Given the description of an element on the screen output the (x, y) to click on. 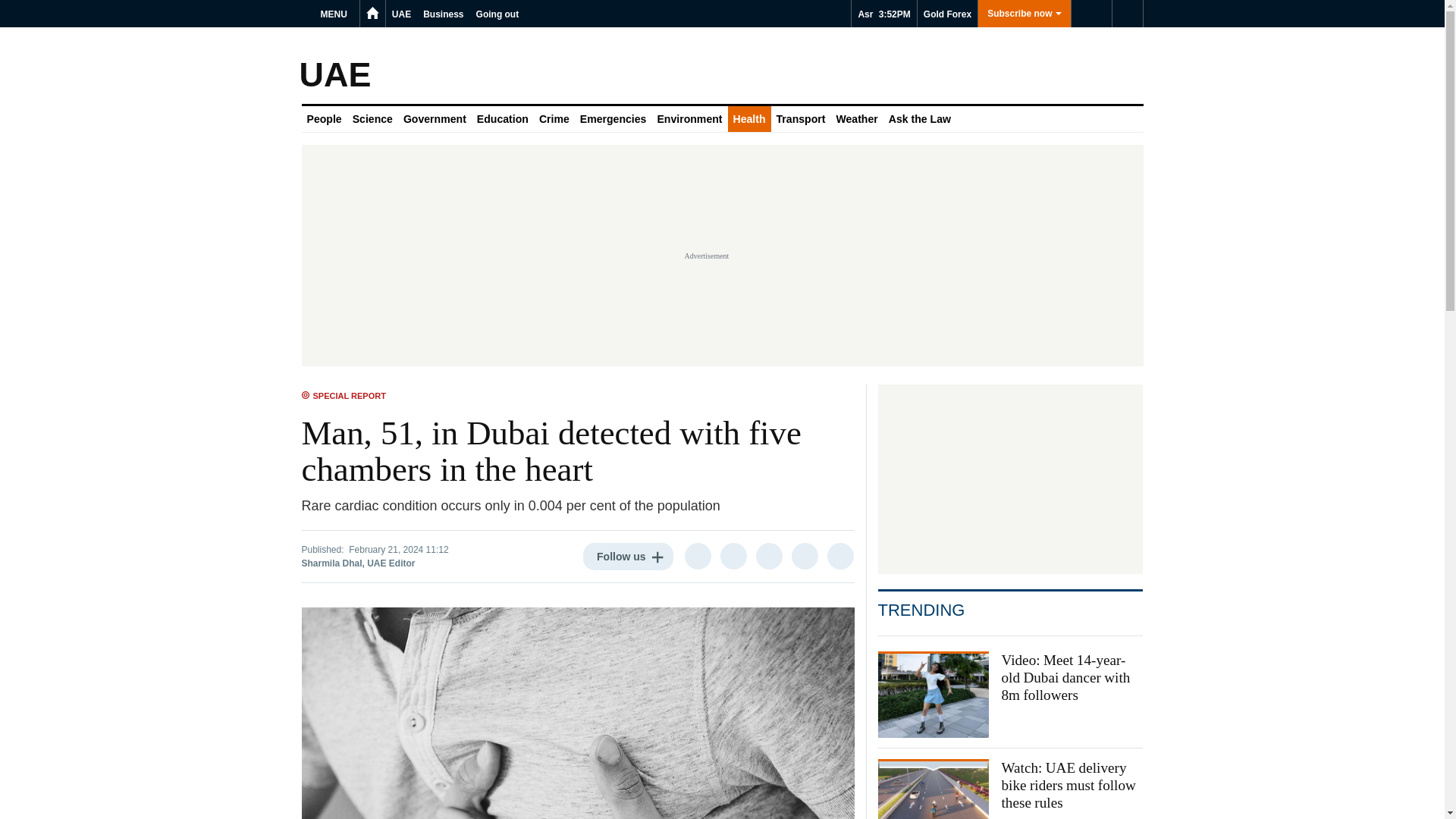
Asr 3:52PM (883, 13)
MENU (336, 13)
Going out (497, 13)
Business (442, 13)
Gold Forex (946, 13)
Subscribe now (1024, 13)
UAE (400, 13)
